Given the description of an element on the screen output the (x, y) to click on. 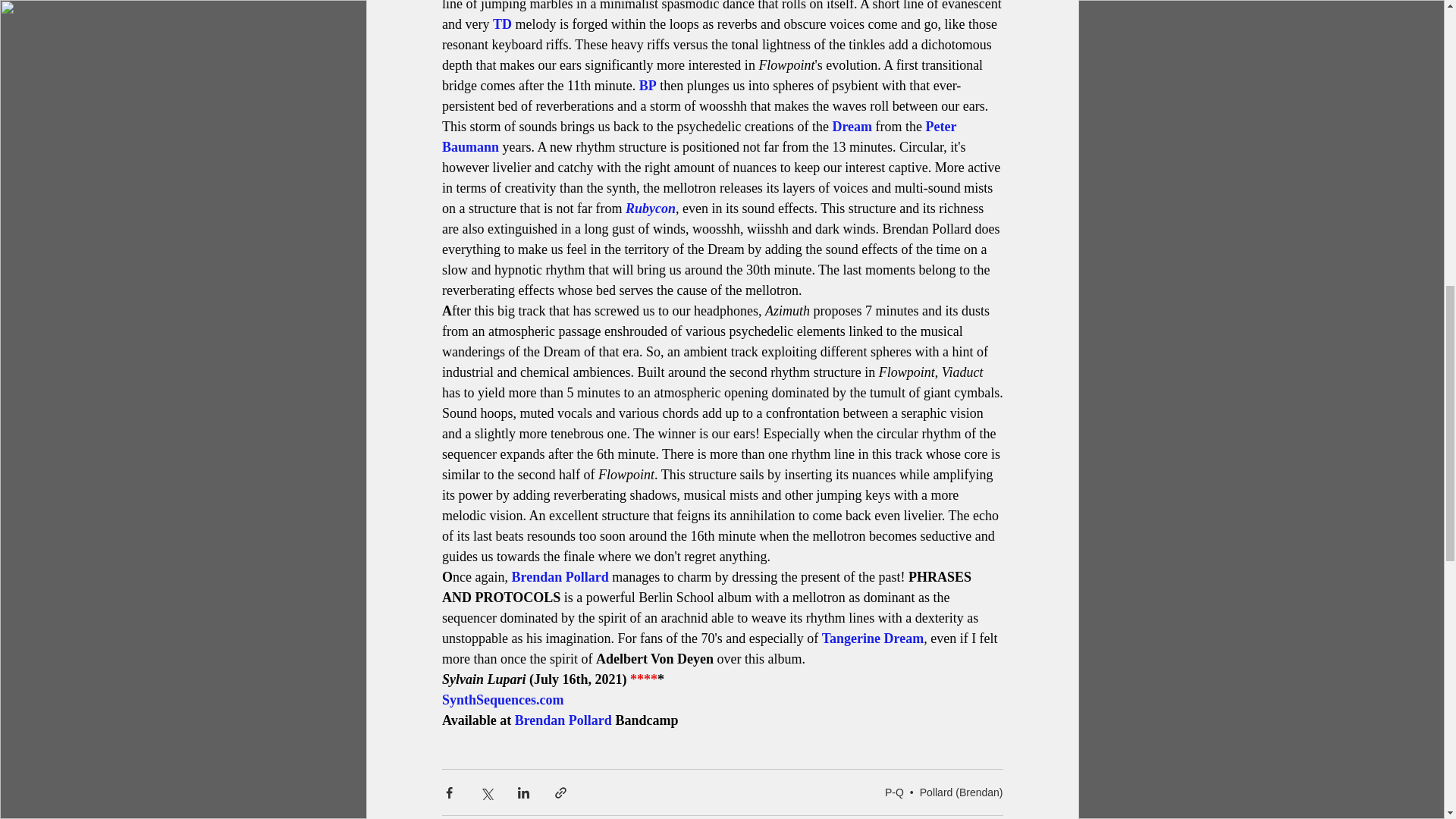
Rubycon (649, 208)
Brendan Pollard (559, 576)
SynthSequences.com (502, 699)
Brendan Pollard (562, 720)
P-Q (894, 791)
TD (501, 23)
BP (647, 85)
Tangerine Dream (872, 638)
Peter Baumann (700, 136)
Dream (851, 126)
